Given the description of an element on the screen output the (x, y) to click on. 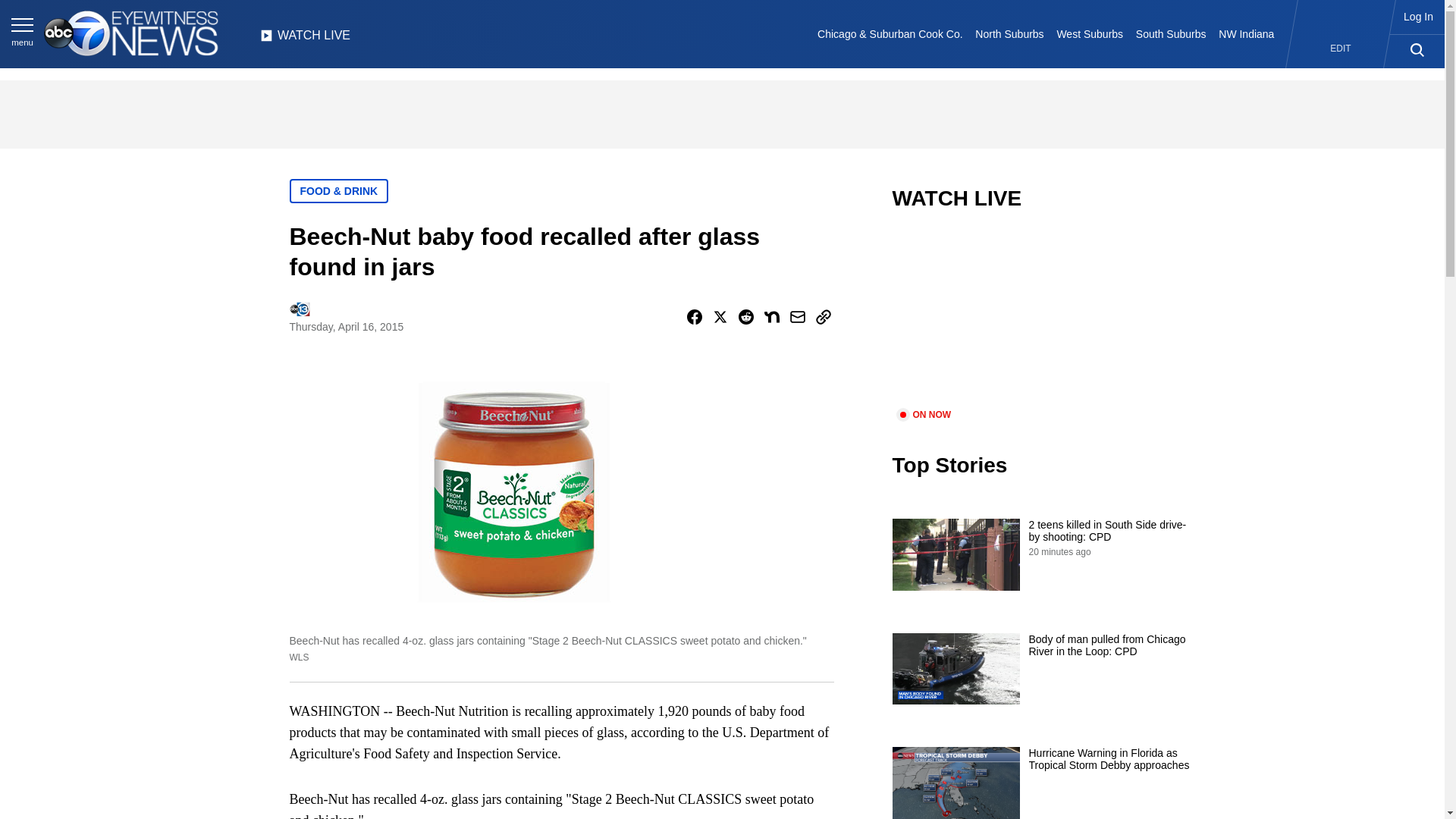
South Suburbs (1170, 33)
West Suburbs (1089, 33)
EDIT (1340, 48)
video.title (1043, 318)
North Suburbs (1009, 33)
WATCH LIVE (305, 39)
NW Indiana (1246, 33)
